Given the description of an element on the screen output the (x, y) to click on. 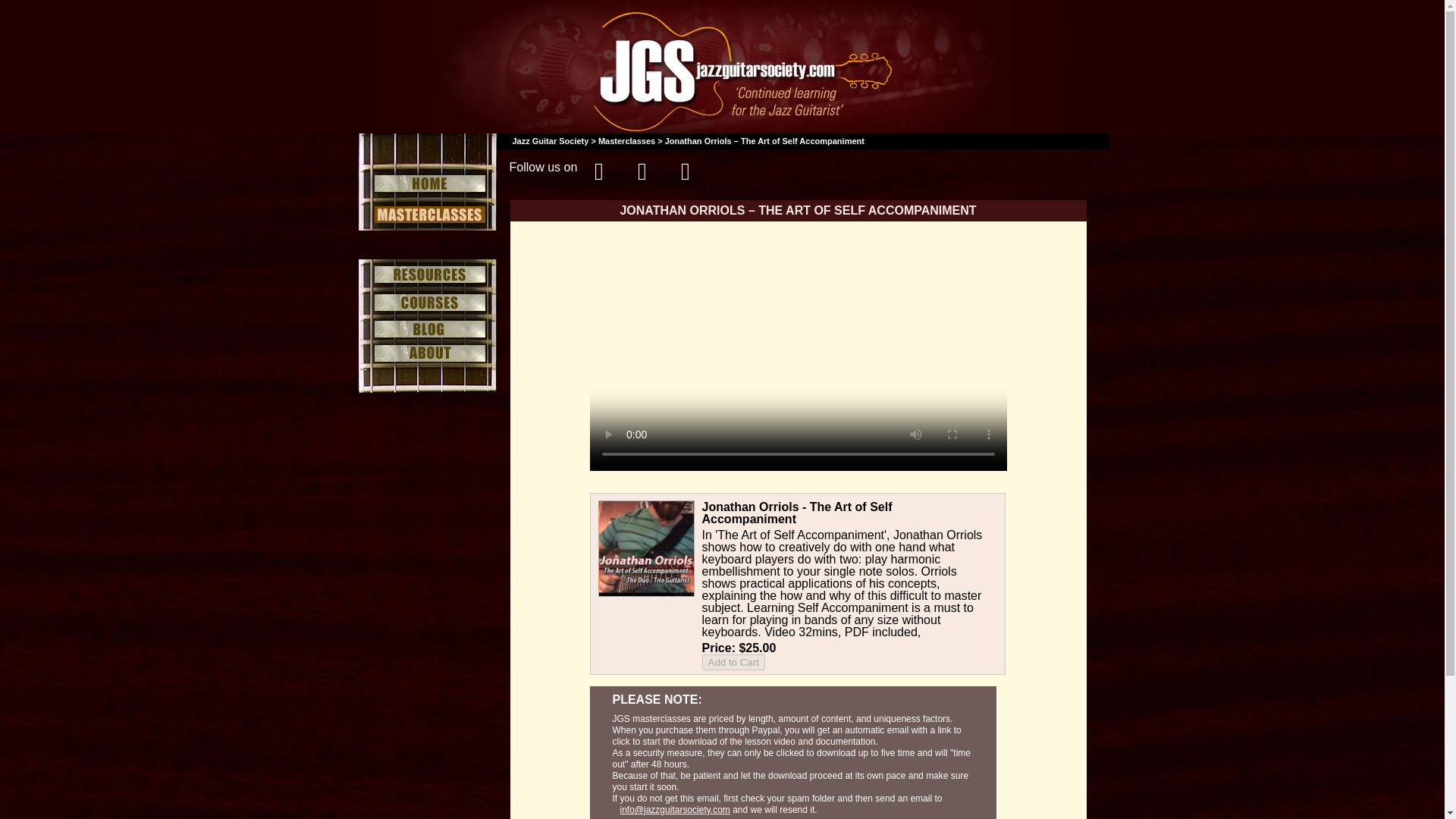
About (427, 353)
Instagram (640, 170)
Go to the Masterclasses Category archives. (626, 140)
Go to Jazz Guitar Society. (550, 140)
Jazz Guitar Society (550, 140)
Master Classes (427, 214)
Facebook (598, 170)
Resources (427, 274)
Youtube (684, 170)
Masterclasses (626, 140)
